Given the description of an element on the screen output the (x, y) to click on. 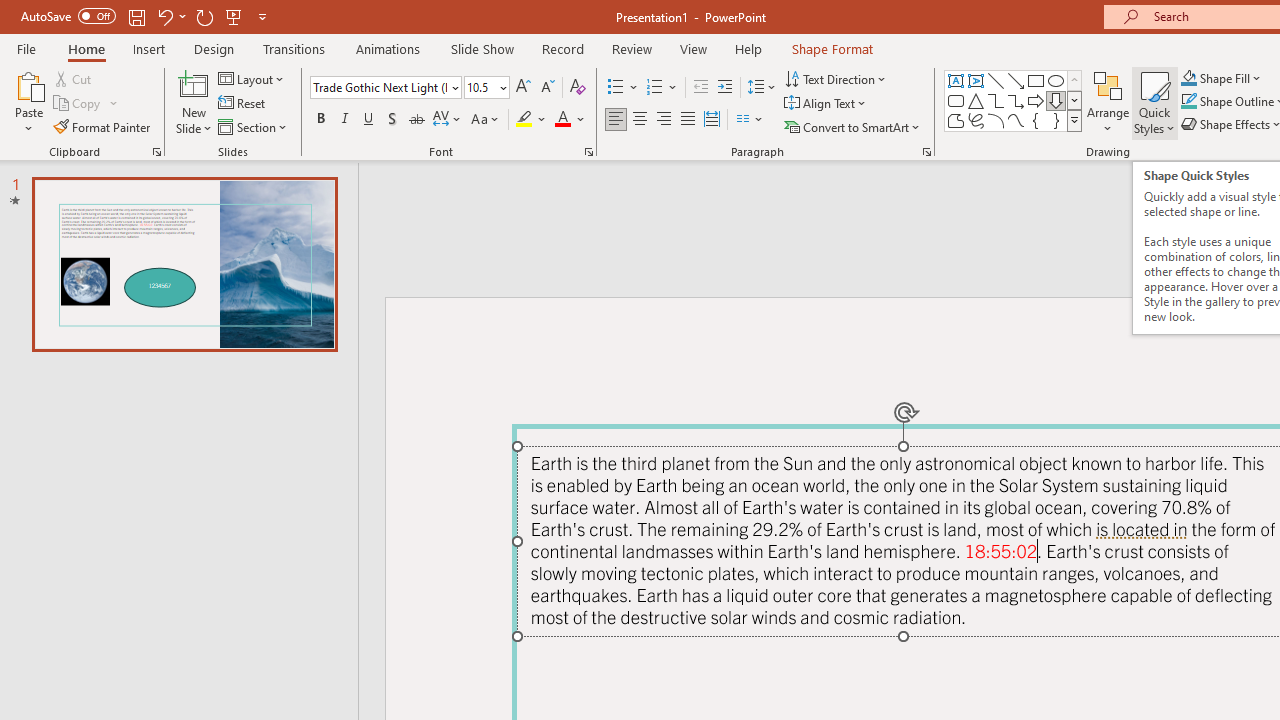
Clear Formatting (577, 87)
Text Box (955, 80)
Format Painter (103, 126)
Font... (588, 151)
Distributed (712, 119)
Oval (1055, 80)
Left Brace (1035, 120)
Curve (1016, 120)
Text Highlight Color Yellow (524, 119)
